Given the description of an element on the screen output the (x, y) to click on. 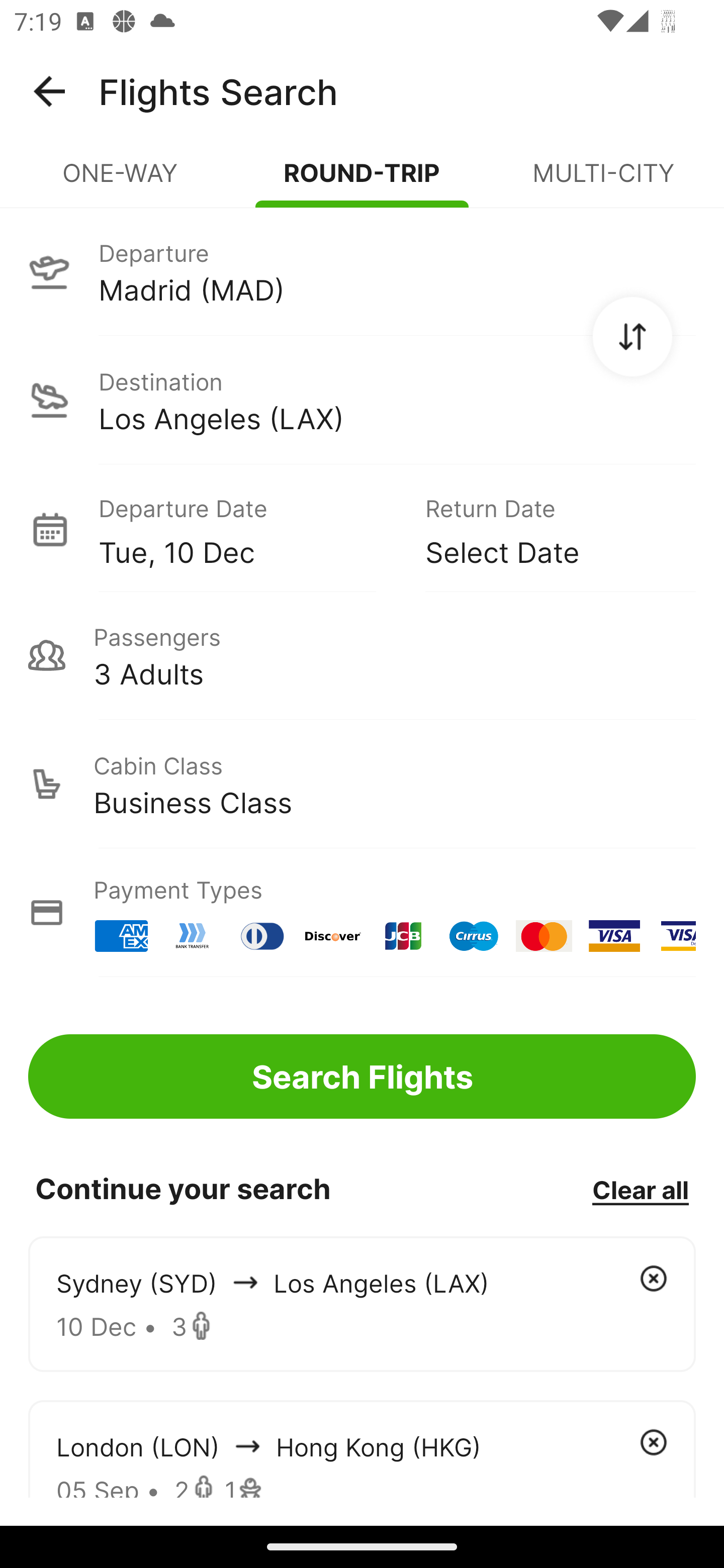
ONE-WAY (120, 180)
ROUND-TRIP (361, 180)
MULTI-CITY (603, 180)
Departure Madrid (MAD) (362, 270)
Destination Los Angeles (LAX) (362, 400)
Departure Date Tue, 10 Dec (247, 528)
Return Date Select Date (546, 528)
Passengers 3 Adults (362, 655)
Cabin Class Business Class (362, 783)
Payment Types (362, 912)
Search Flights (361, 1075)
Clear all (640, 1189)
